Given the description of an element on the screen output the (x, y) to click on. 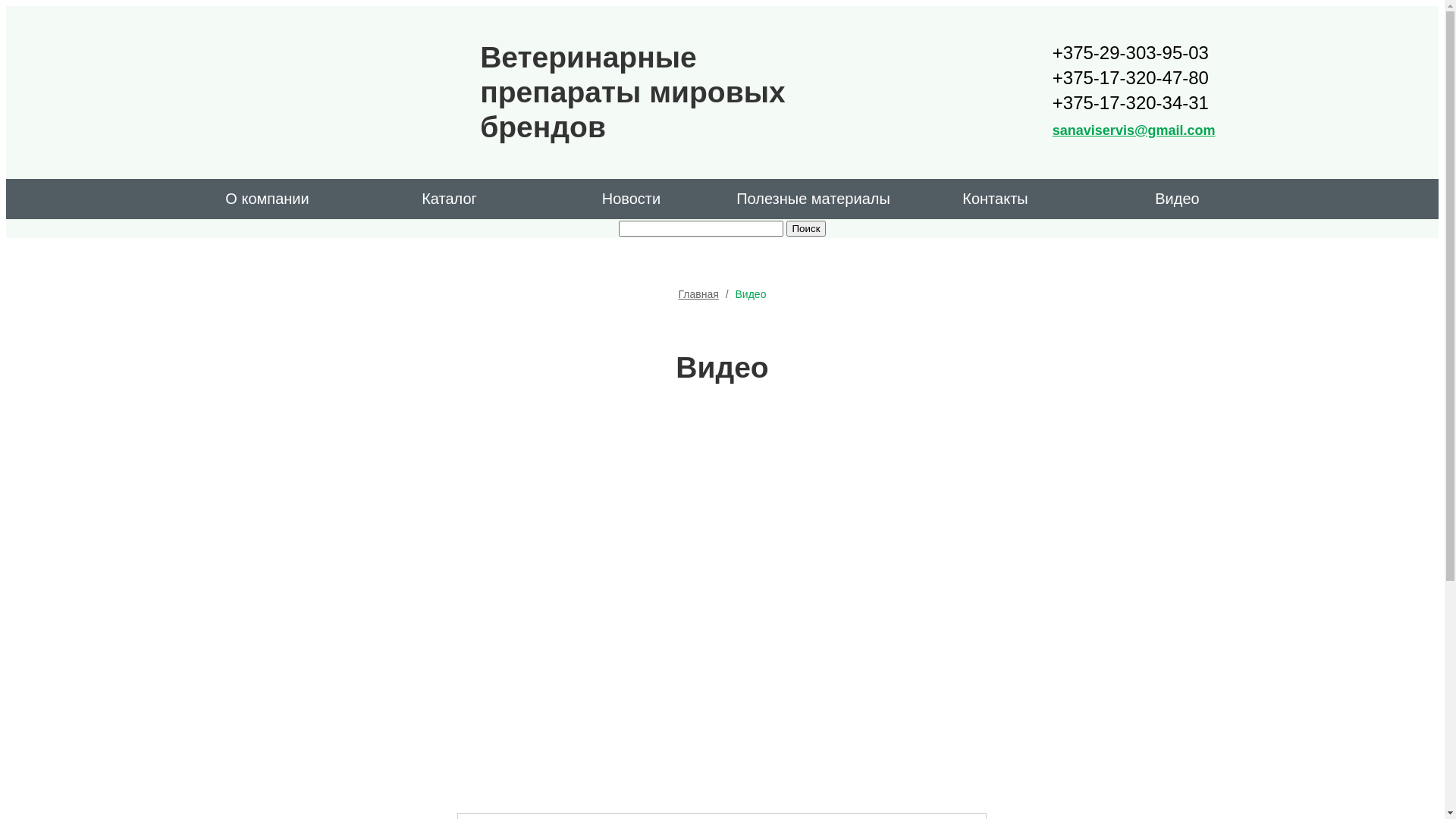
+375-17-320-34-31 Element type: text (1133, 102)
+375-17-320-47-80 Element type: text (1133, 77)
sanaviservis@gmail.com Element type: text (1133, 130)
+375-29-303-95-03 Element type: text (1133, 52)
